Given the description of an element on the screen output the (x, y) to click on. 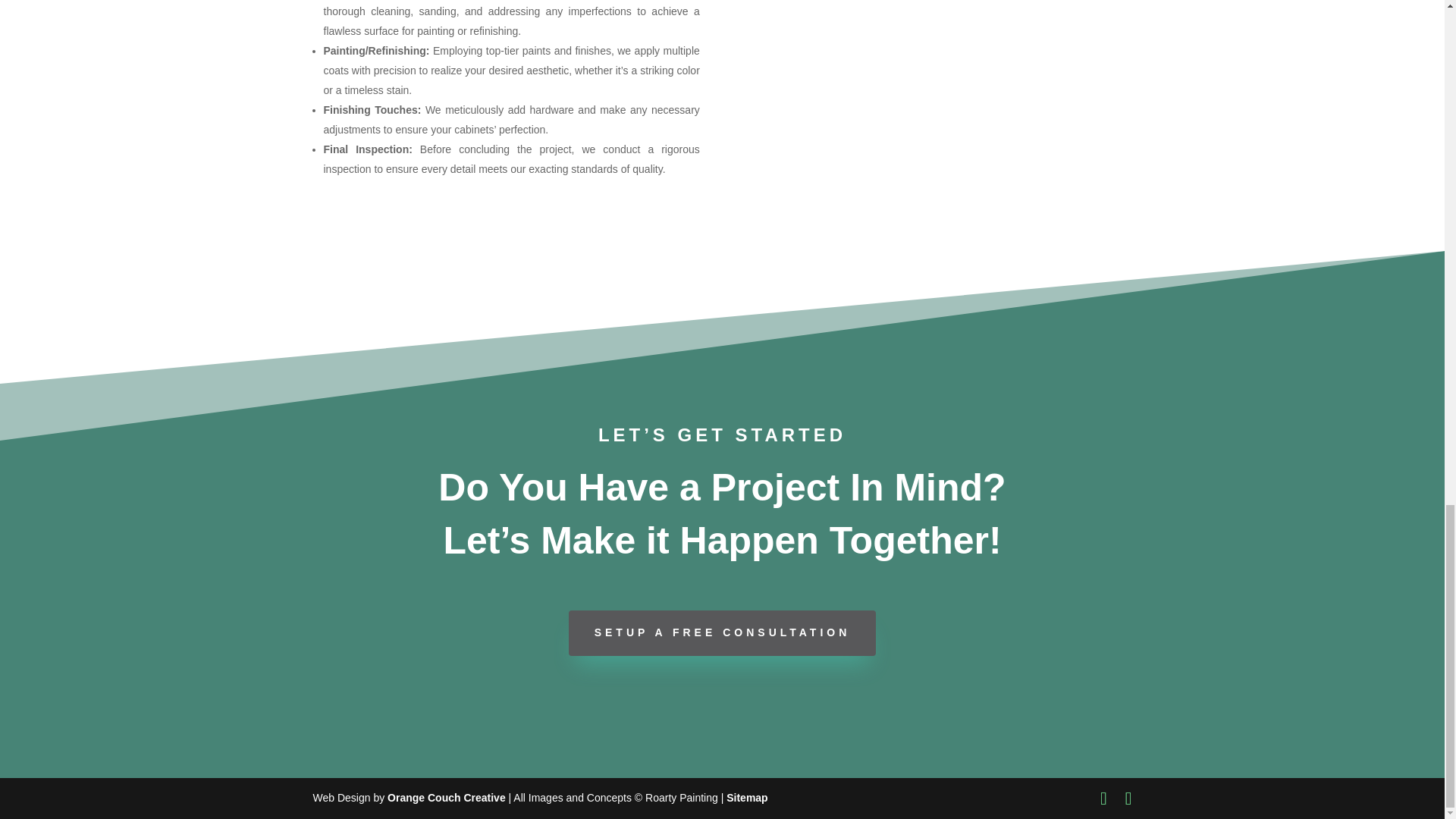
Orange Couch Creative (446, 797)
SETUP A FREE CONSULTATION (722, 633)
Sitemap (746, 797)
